Given the description of an element on the screen output the (x, y) to click on. 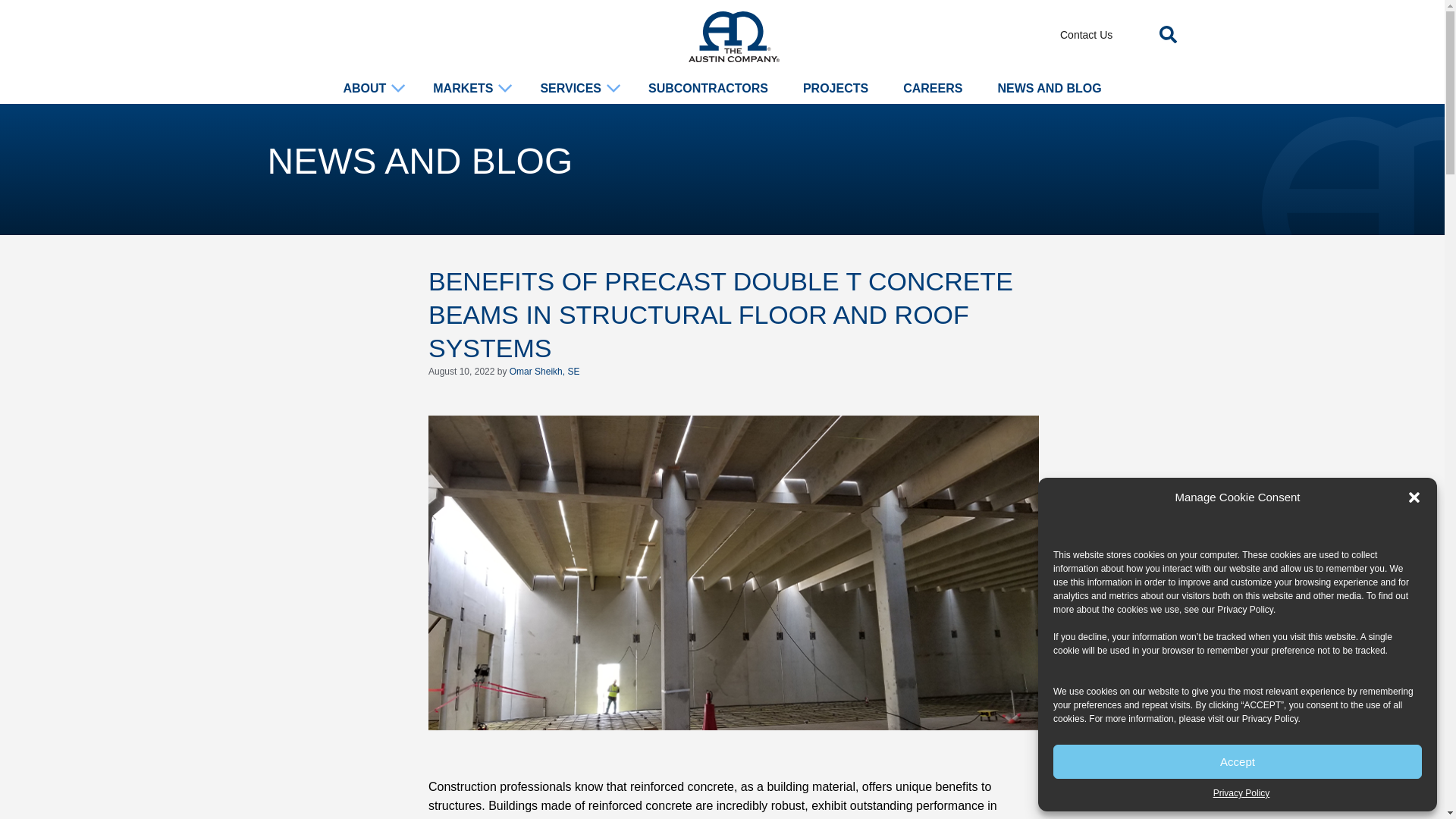
Privacy Policy (1244, 609)
Privacy Policy (1240, 793)
Accept (1237, 761)
